Given the description of an element on the screen output the (x, y) to click on. 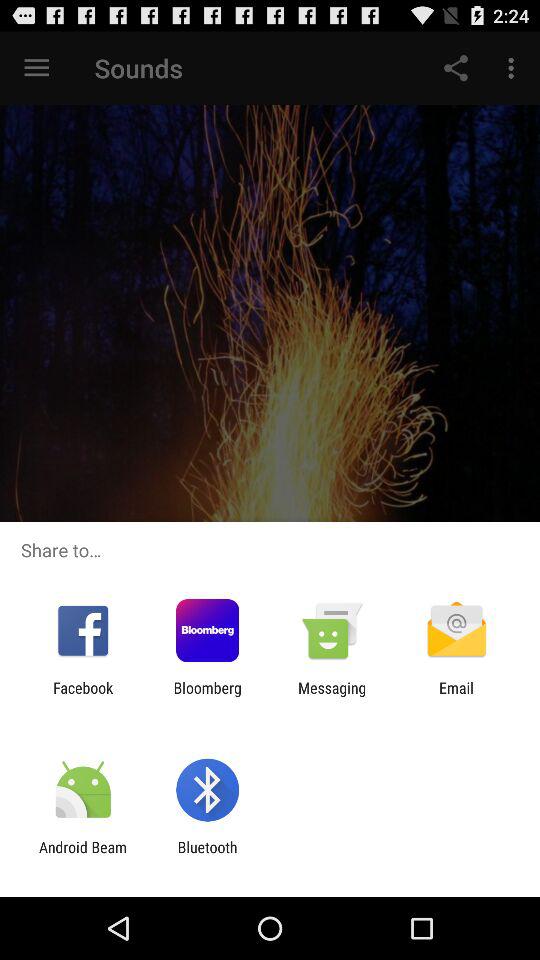
turn off bloomberg icon (207, 696)
